Given the description of an element on the screen output the (x, y) to click on. 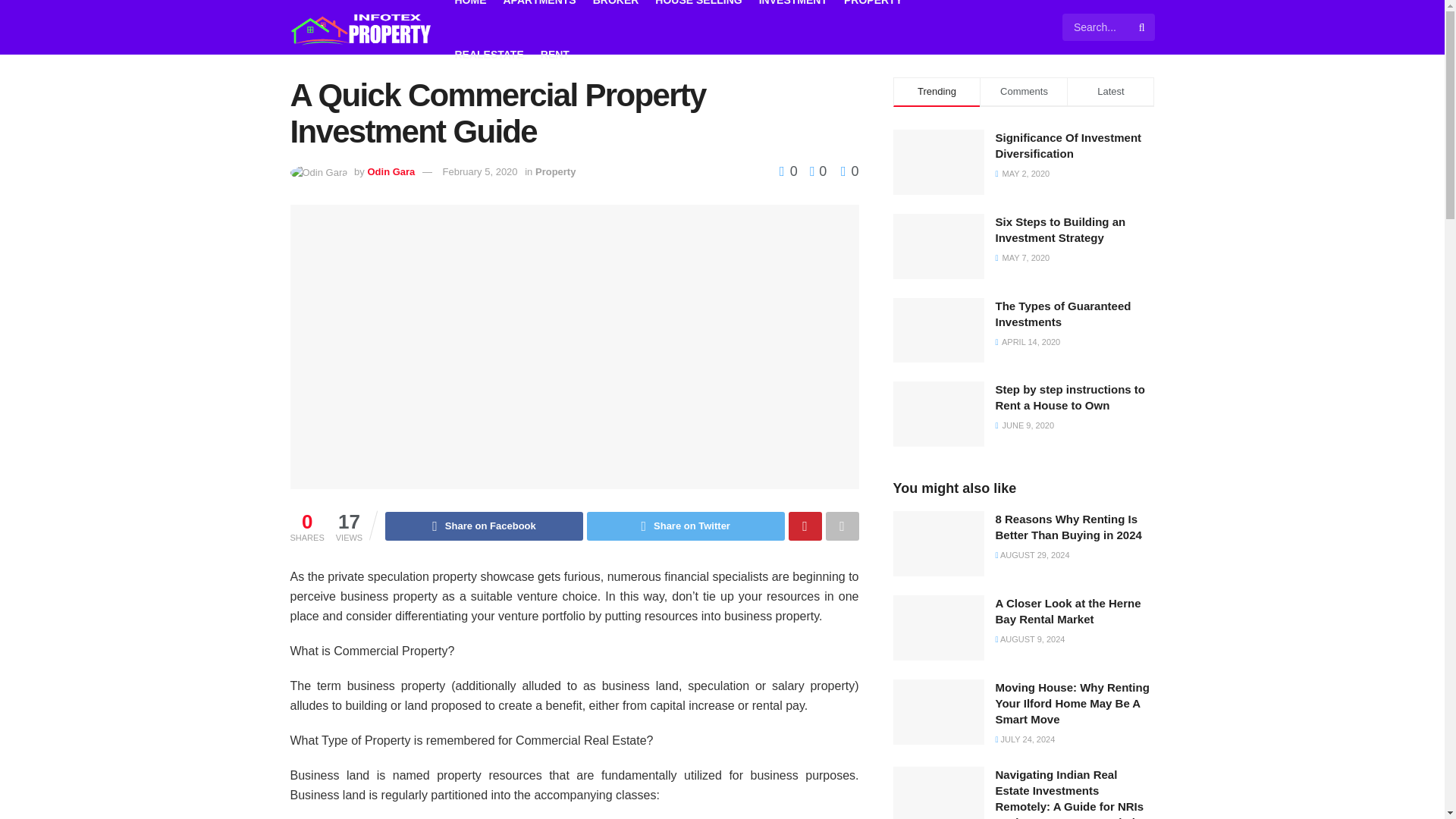
0 (850, 171)
February 5, 2020 (480, 171)
BROKER (615, 13)
REALESTATE (489, 54)
HOME (470, 13)
Property (555, 171)
Odin Gara (390, 171)
HOUSE SELLING (698, 13)
PROPERTY (873, 13)
INVESTMENT (792, 13)
